Given the description of an element on the screen output the (x, y) to click on. 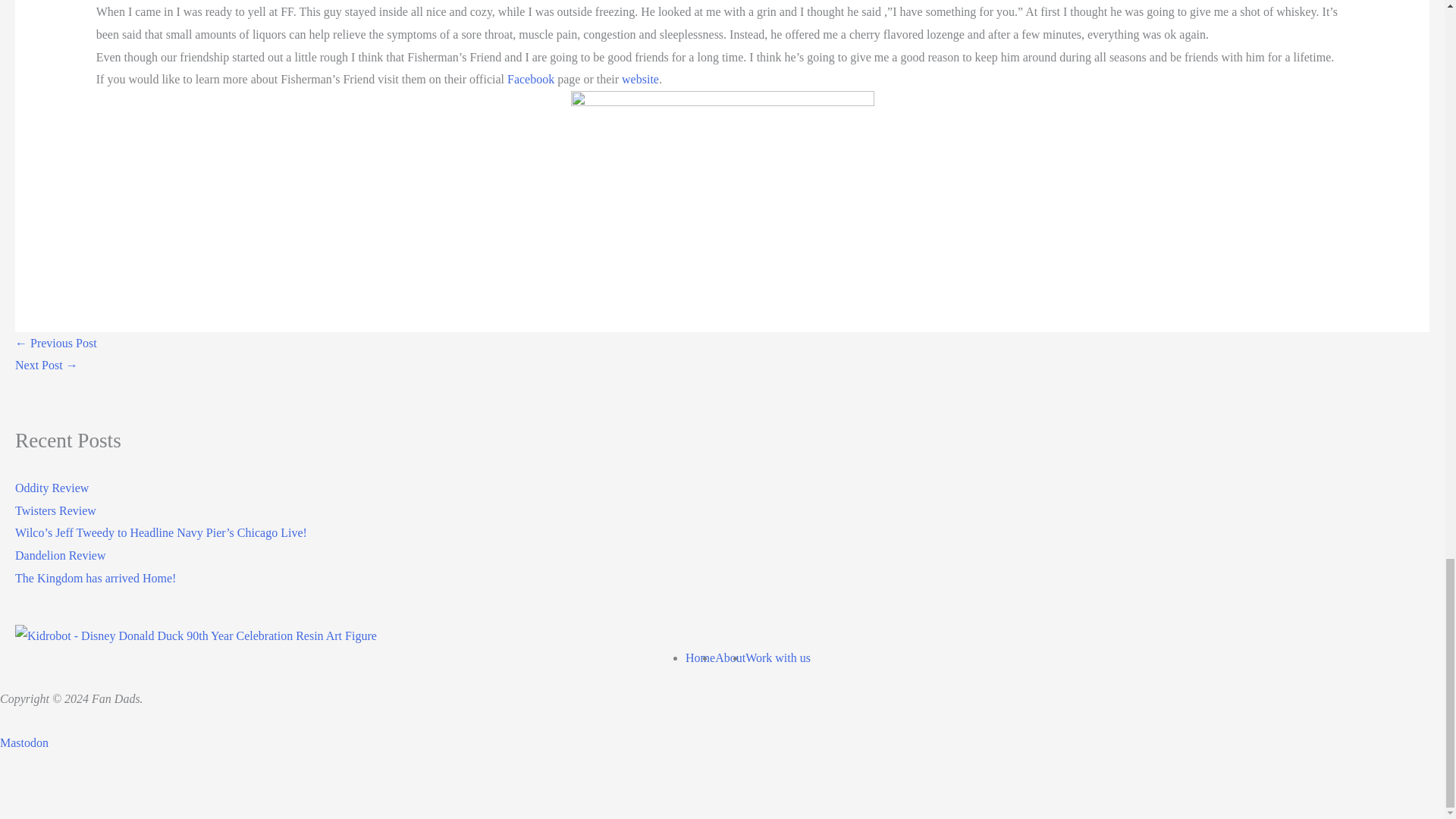
First official trailer for FINDING DORY is out! (55, 342)
GEARS OF WAR 4 Beta announced! (46, 364)
